Given the description of an element on the screen output the (x, y) to click on. 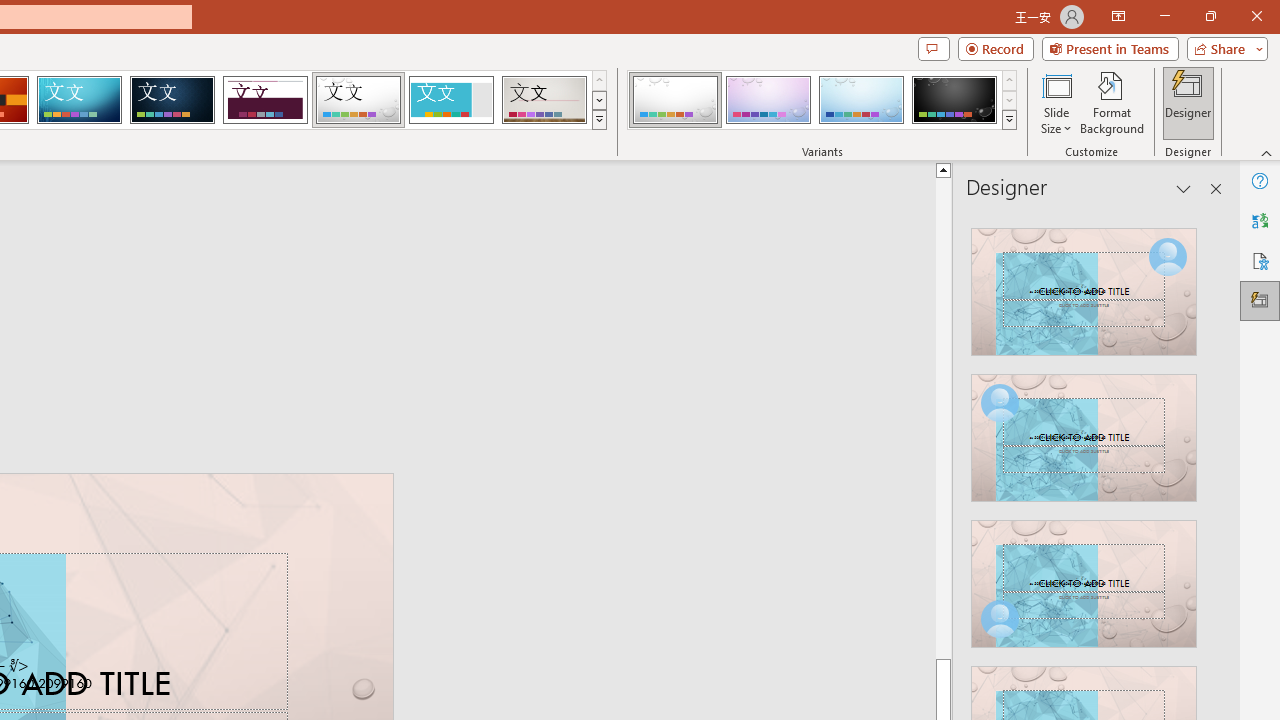
Dividend (265, 100)
Slide Size (1056, 102)
Frame (450, 100)
Themes (598, 120)
Design Idea (1083, 577)
AutomationID: ThemeVariantsGallery (822, 99)
